Given the description of an element on the screen output the (x, y) to click on. 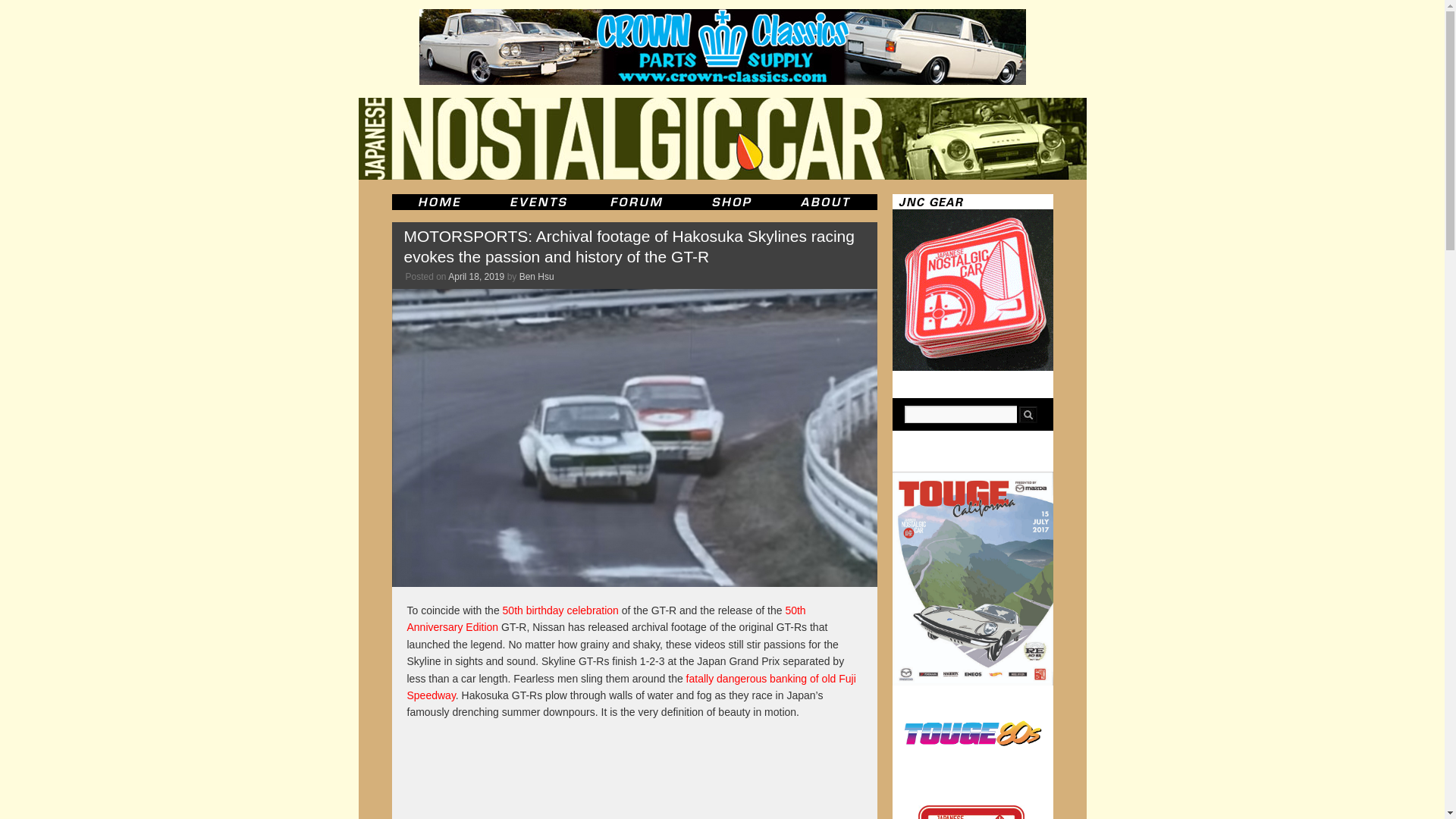
Search (1027, 414)
JNC Event Horizon (537, 201)
50th birthday celebration (560, 610)
50th Anniversary Edition (605, 618)
JNC Home (438, 201)
View all posts by Ben Hsu (536, 276)
fatally dangerous banking of old Fuji Speedway (631, 686)
April 18, 2019 (475, 276)
About JNC (826, 201)
Ben Hsu (536, 276)
7:37 am (475, 276)
JNC Shop (731, 201)
JNC Forum (638, 201)
Search (1027, 414)
